Given the description of an element on the screen output the (x, y) to click on. 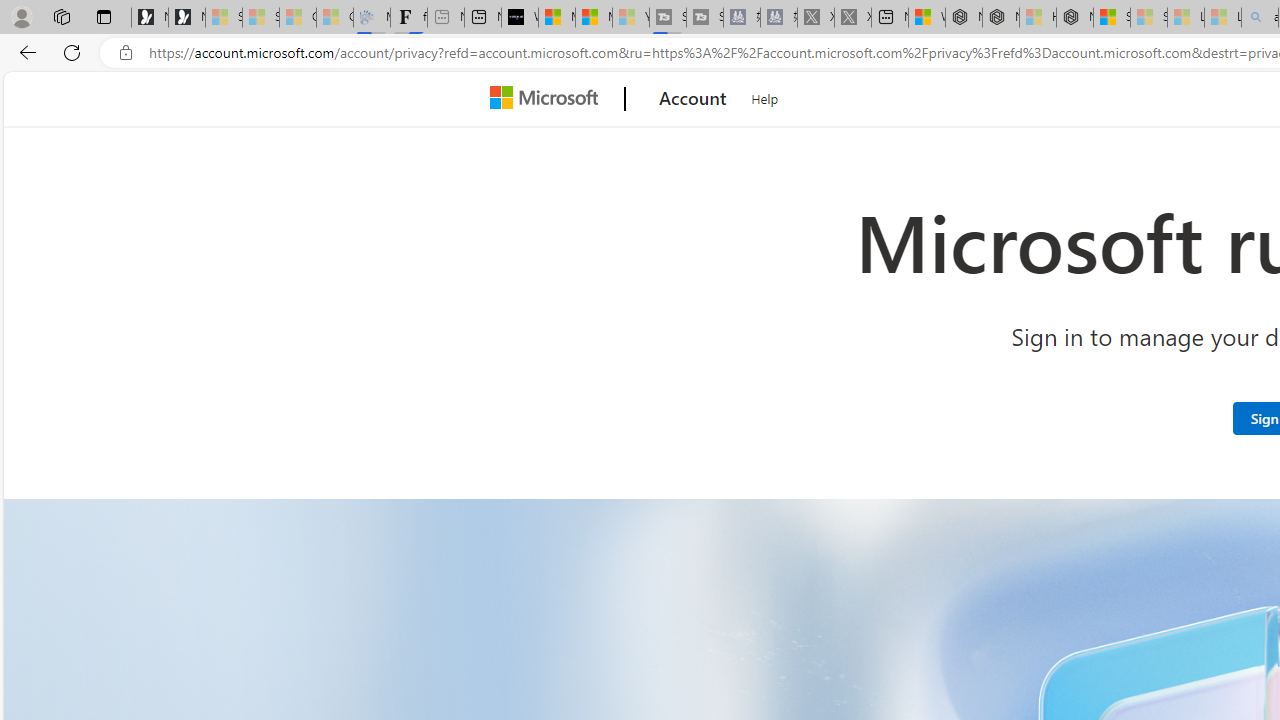
Help (765, 96)
Newsletter Sign Up (186, 17)
Help (765, 96)
New tab (889, 17)
X - Sleeping (852, 17)
Tab actions menu (104, 16)
Personal Profile (21, 16)
Refresh (72, 52)
Nordace - Summer Adventures 2024 (1000, 17)
Wildlife - MSN (926, 17)
Back (24, 52)
Account (692, 99)
